Given the description of an element on the screen output the (x, y) to click on. 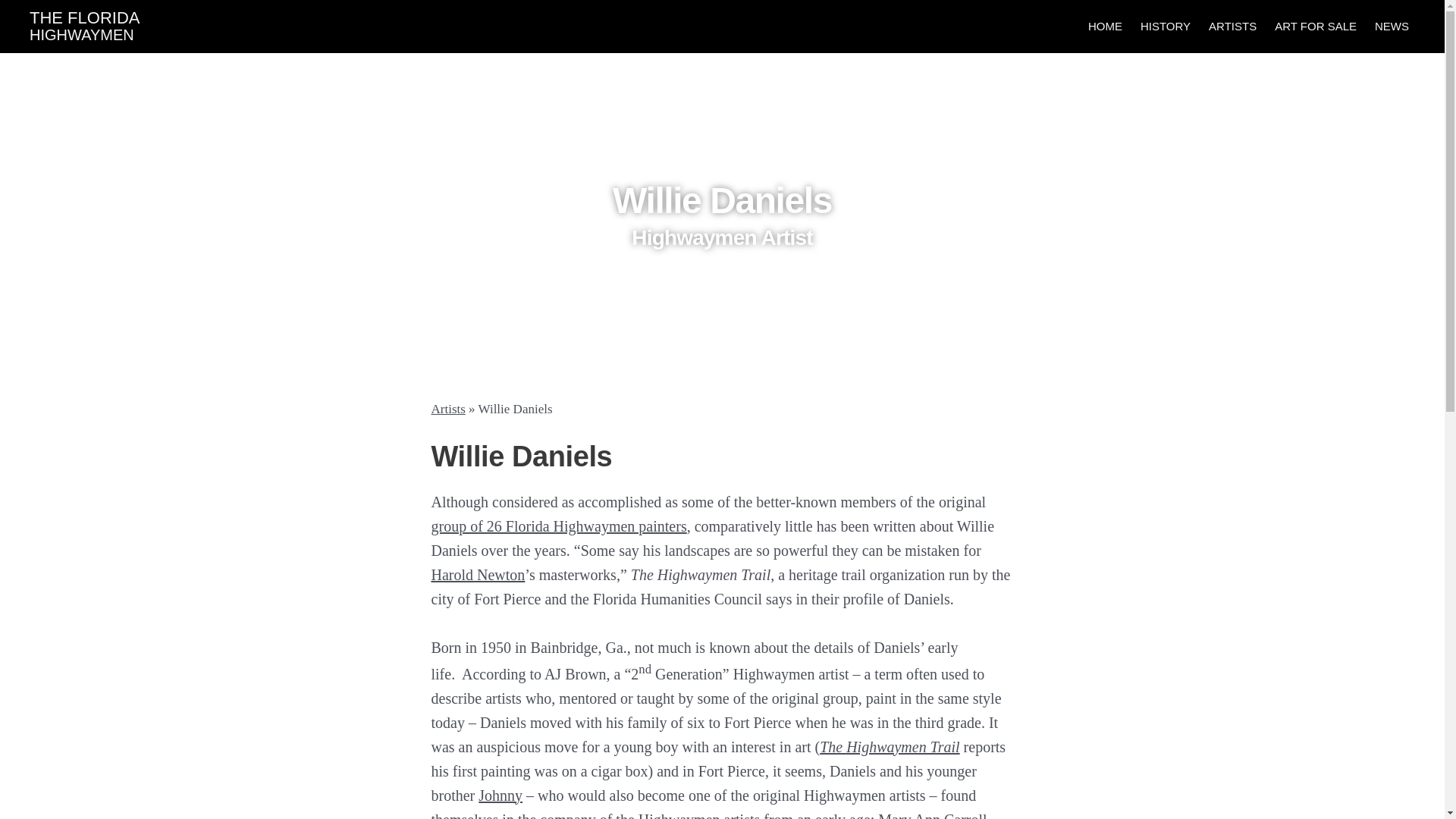
HISTORY (1165, 26)
ARTISTS (84, 25)
HOME (1232, 26)
